Given the description of an element on the screen output the (x, y) to click on. 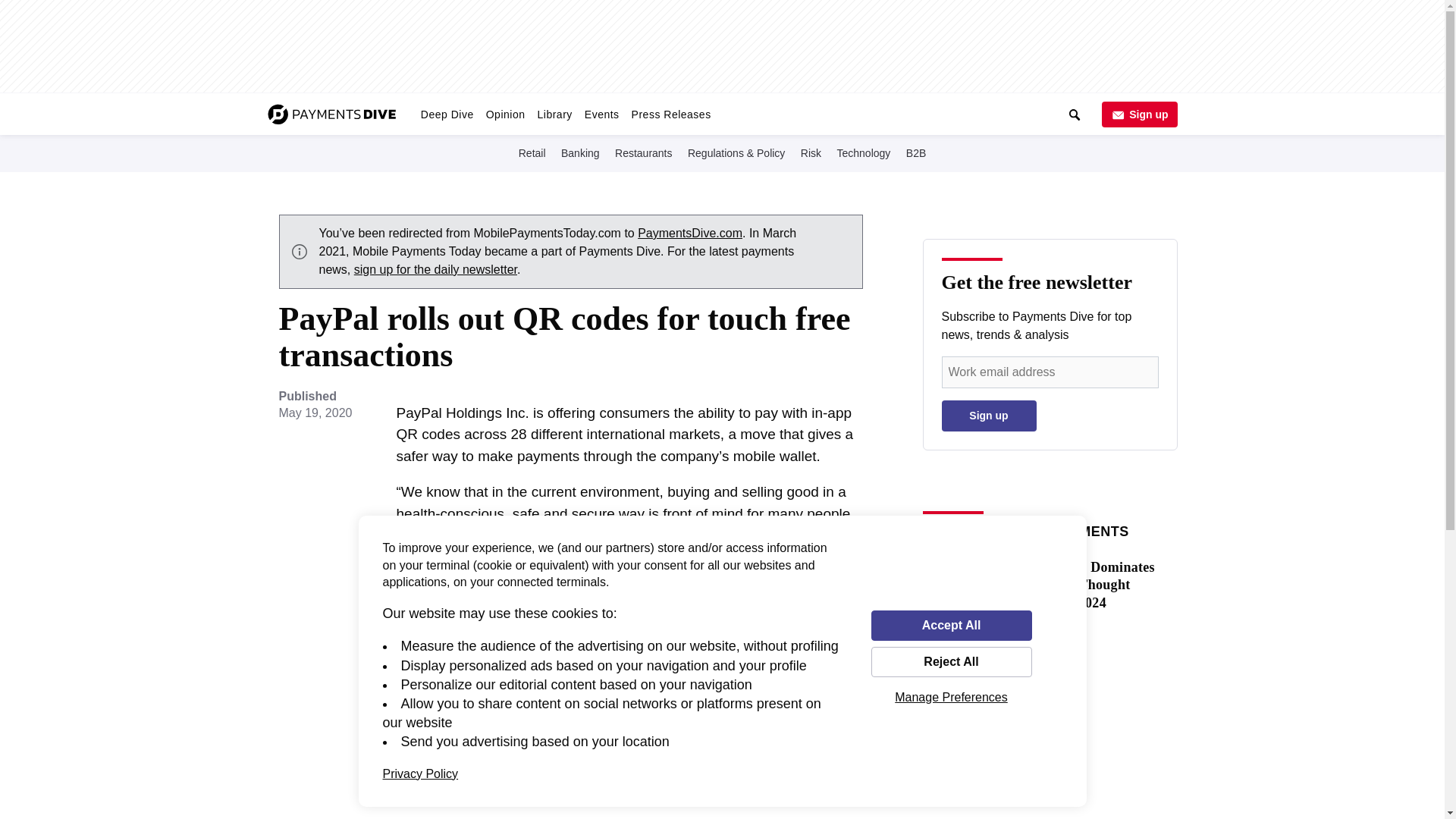
Restaurants (643, 152)
Accept All (950, 625)
Deep Dive (447, 114)
Reject All (950, 662)
Events (602, 114)
Press Releases (671, 114)
Risk (810, 152)
Sign up (989, 415)
Library (554, 114)
Opinion (505, 114)
